Given the description of an element on the screen output the (x, y) to click on. 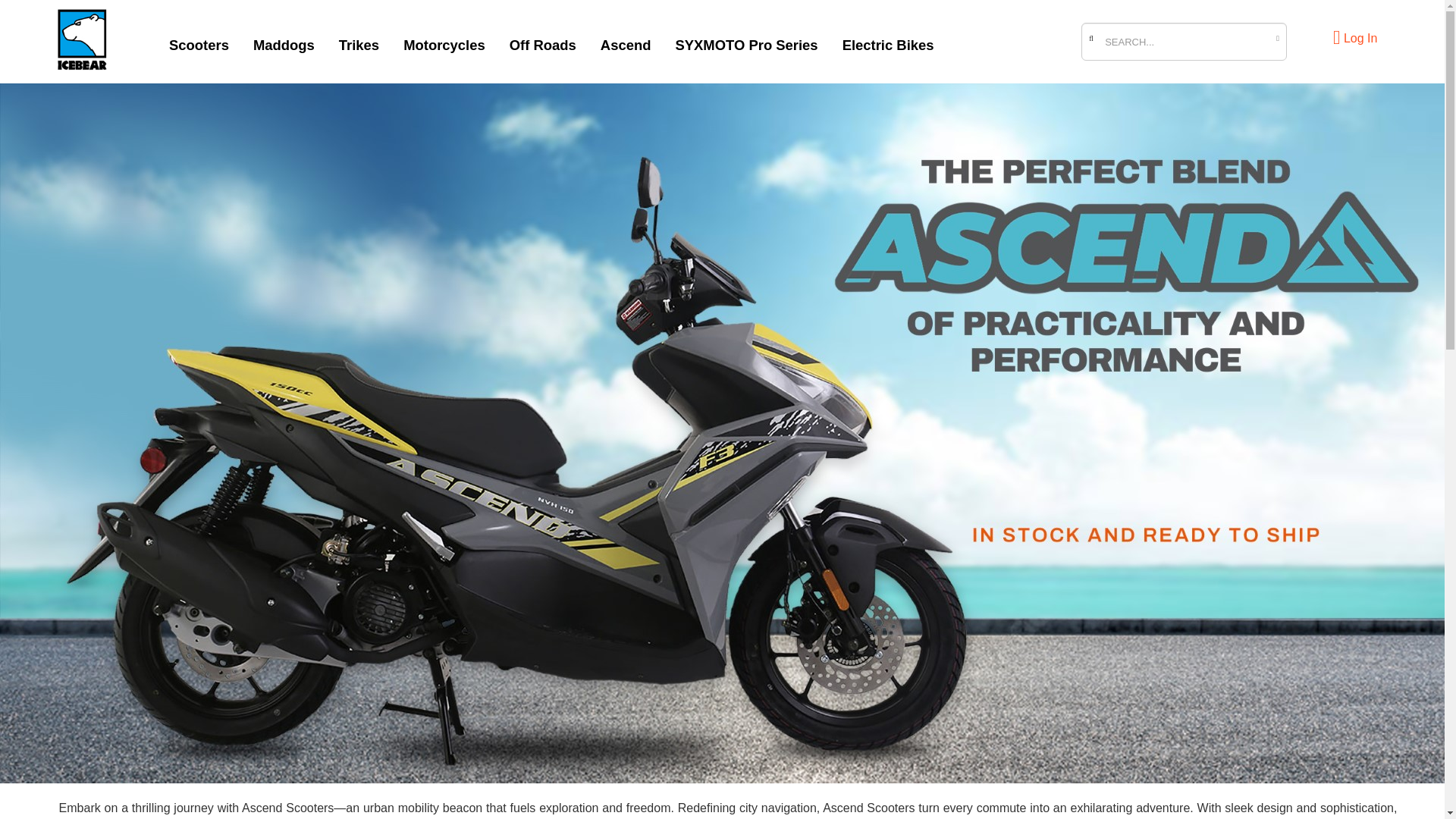
Scooters (198, 41)
Electric Bikes (887, 41)
SYXMOTO Pro Series (745, 41)
Trikes (358, 41)
Maddogs (283, 41)
Motorcycles (443, 41)
Off Roads (542, 41)
Ascend (625, 41)
Log In (1355, 38)
